Given the description of an element on the screen output the (x, y) to click on. 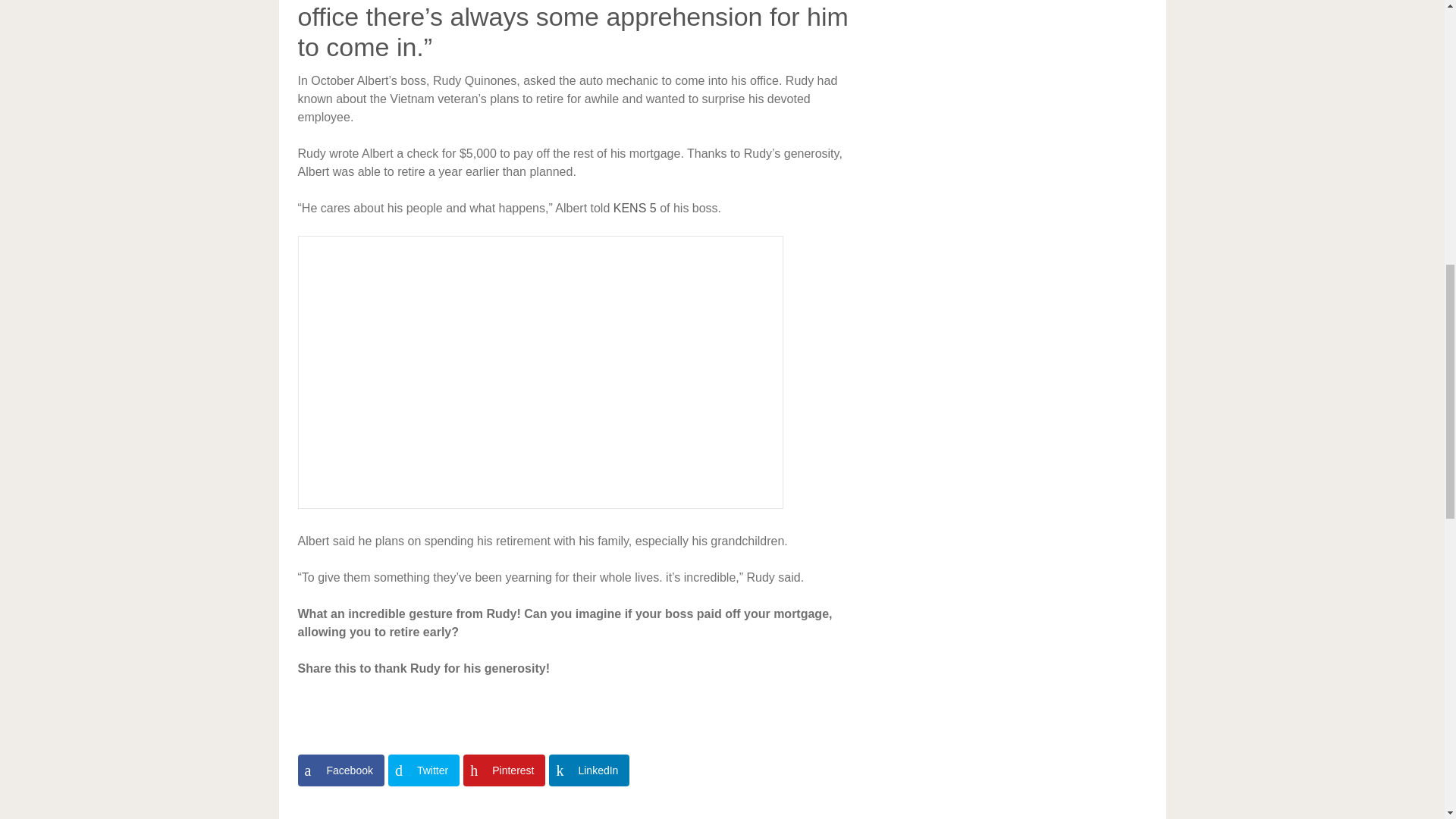
Facebook (340, 770)
Share on Pinterest (503, 770)
Share on LinkedIn (588, 770)
Twitter (424, 770)
Share on Facebook (340, 770)
LinkedIn (588, 770)
Pinterest (503, 770)
Share on Twitter (424, 770)
KENS 5 (634, 207)
